Given the description of an element on the screen output the (x, y) to click on. 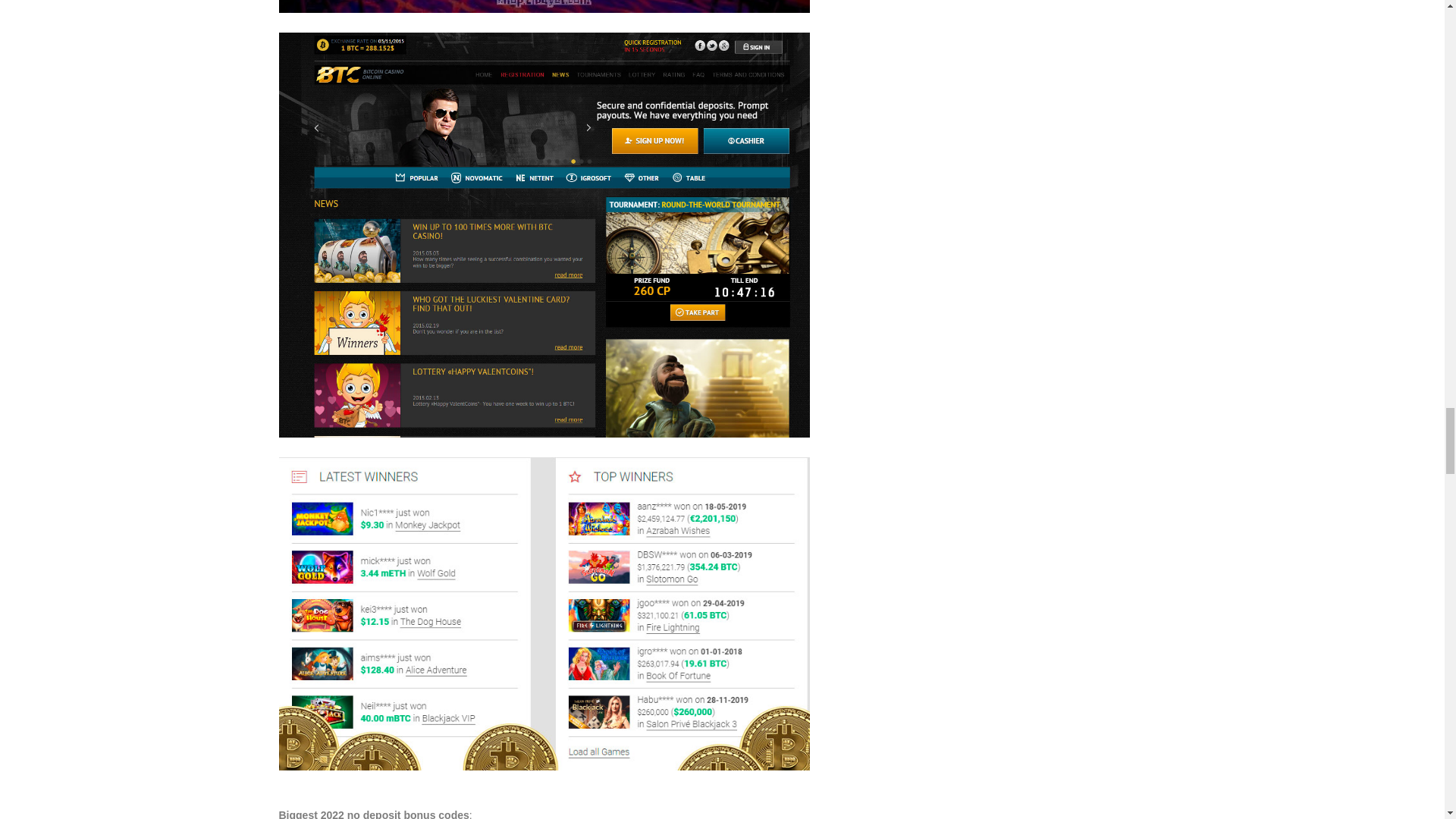
How to read the bingo patterns on slot machines (544, 6)
